Given the description of an element on the screen output the (x, y) to click on. 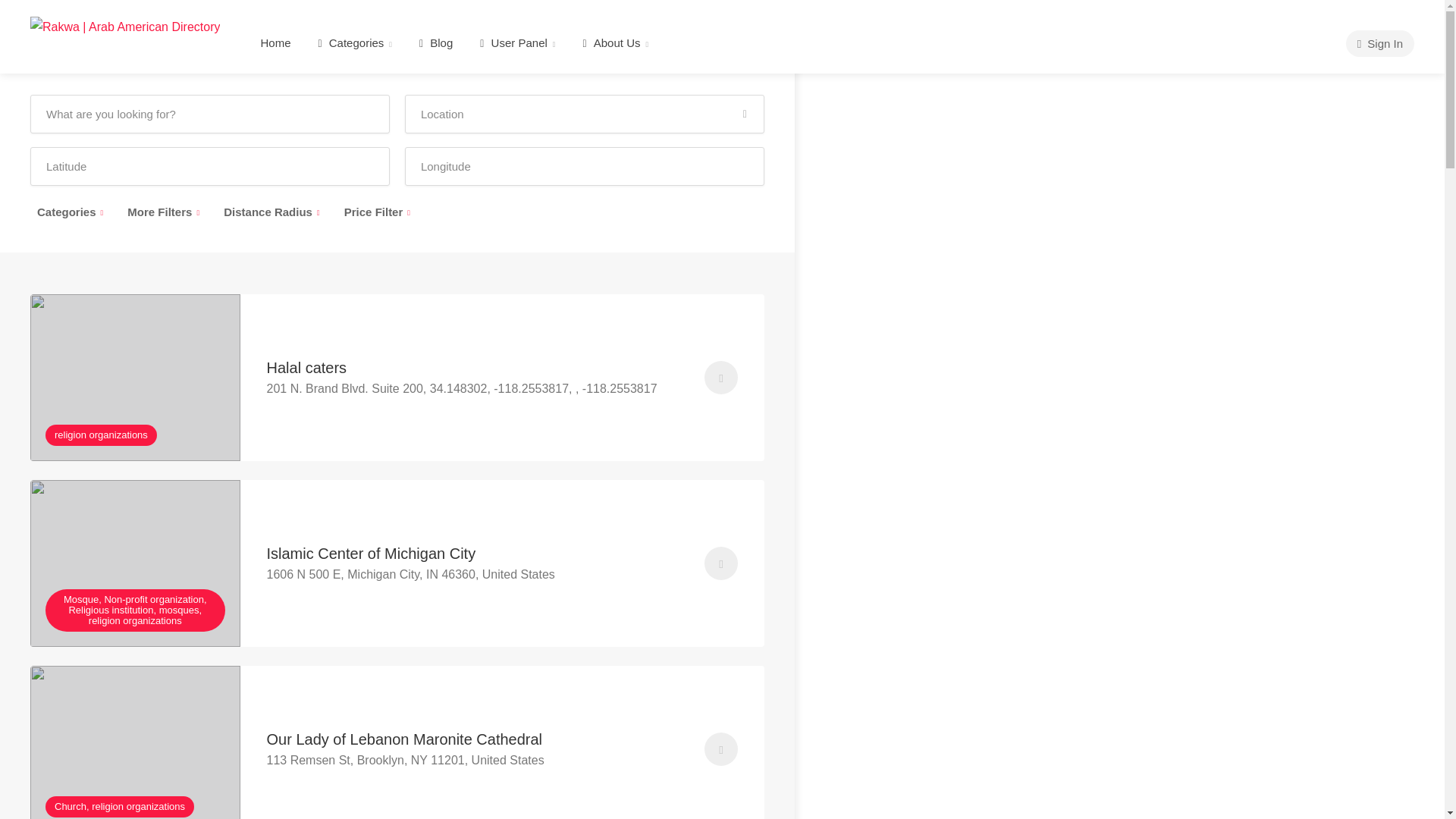
Login To Bookmark Items (721, 563)
Login To Bookmark Items (721, 748)
Login To Bookmark Items (721, 377)
